Given the description of an element on the screen output the (x, y) to click on. 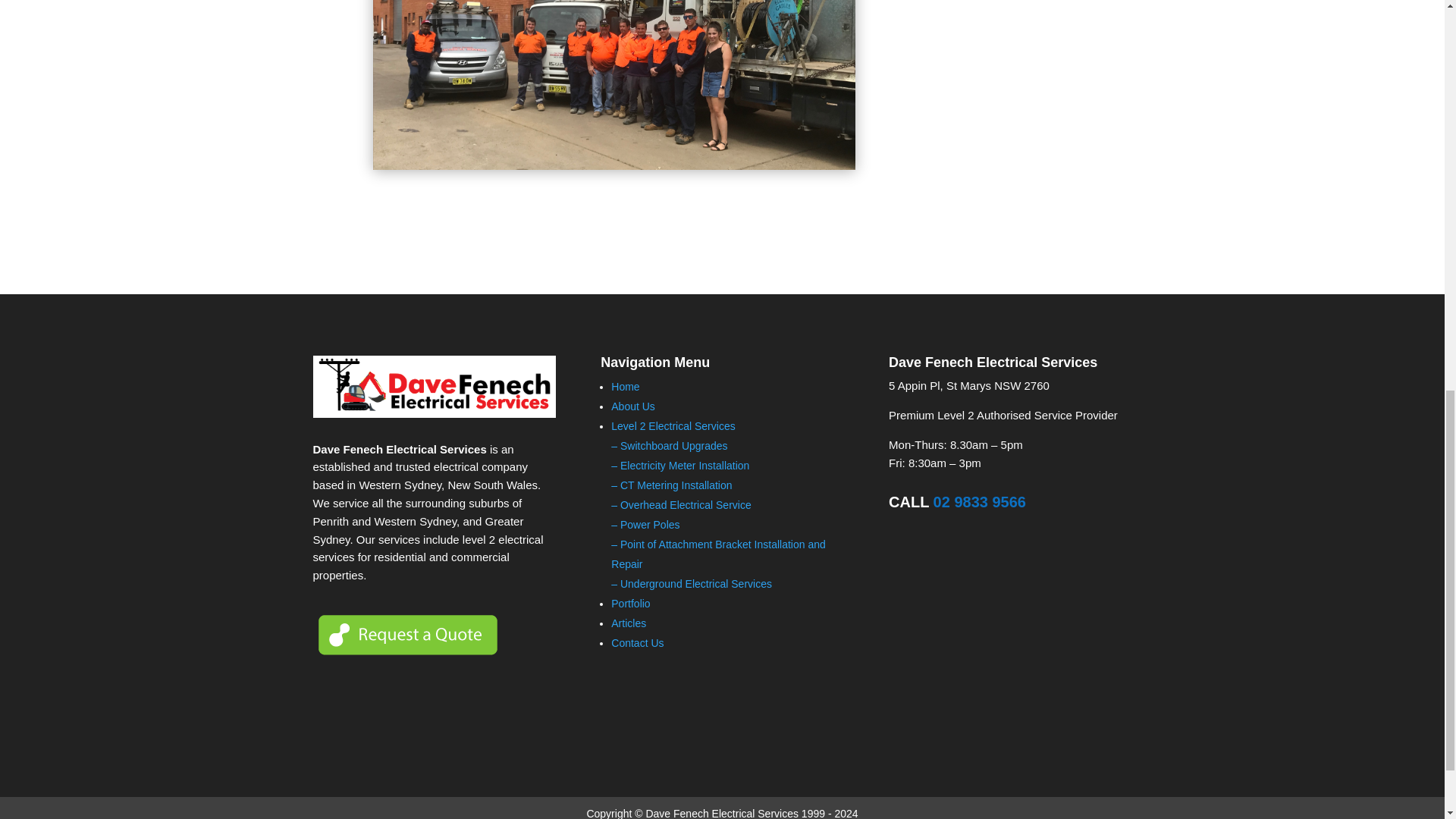
Home (625, 386)
Portfolio (630, 603)
About Us (633, 406)
Articles (628, 623)
Level 2 Electrician Sydney Header (614, 84)
Contact Us (637, 643)
Level 2 Electrical Services (673, 426)
